Given the description of an element on the screen output the (x, y) to click on. 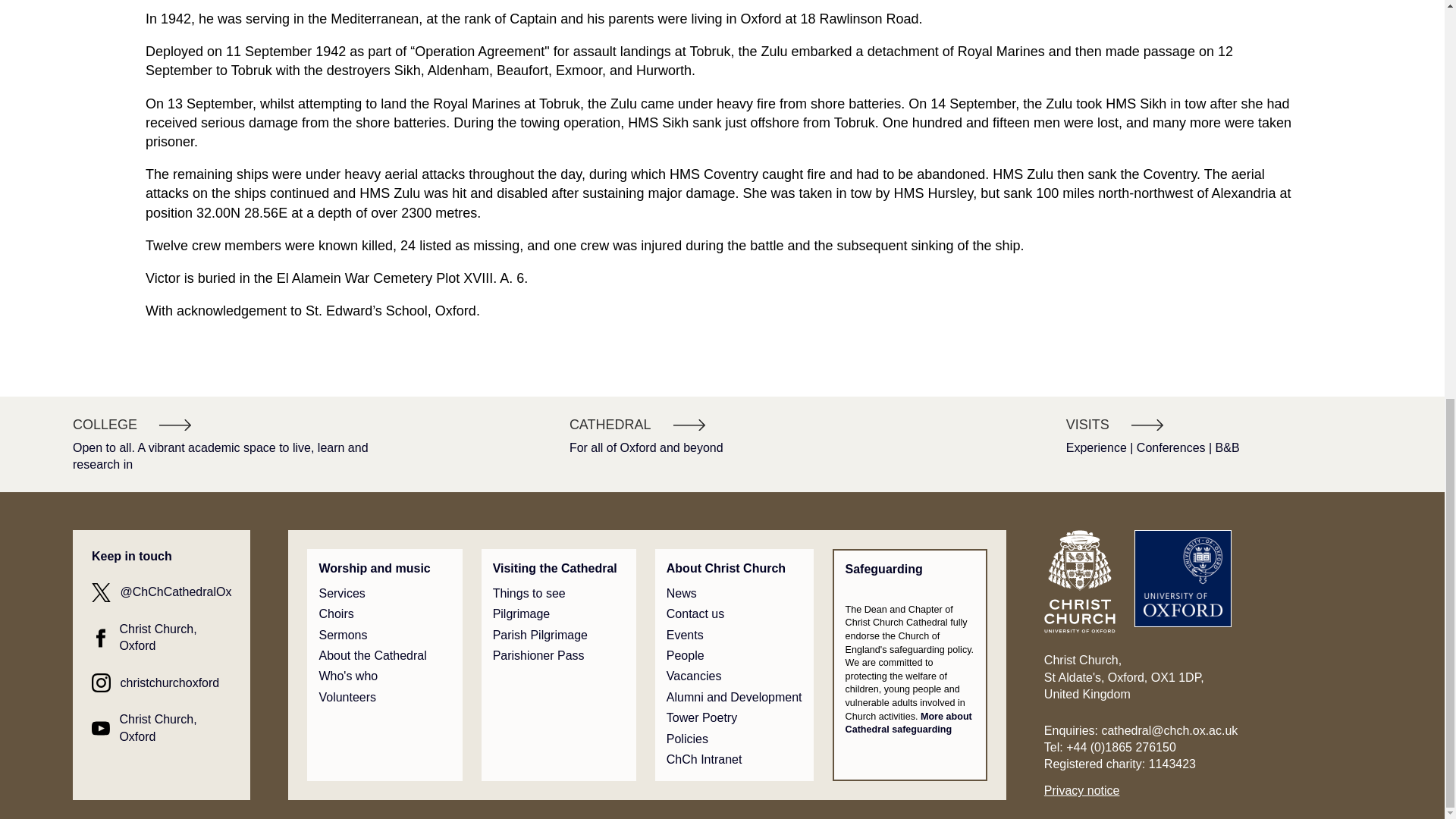
Visiting the cathedral (555, 568)
Choirs and music at the Cathedral (335, 614)
Visiting the cathedral (529, 593)
Login to the ChCh intranet (704, 759)
 Services at the Cathedral (341, 593)
Worshipping at Christ Church Cathedral (373, 568)
Job vacancies (694, 676)
